Given the description of an element on the screen output the (x, y) to click on. 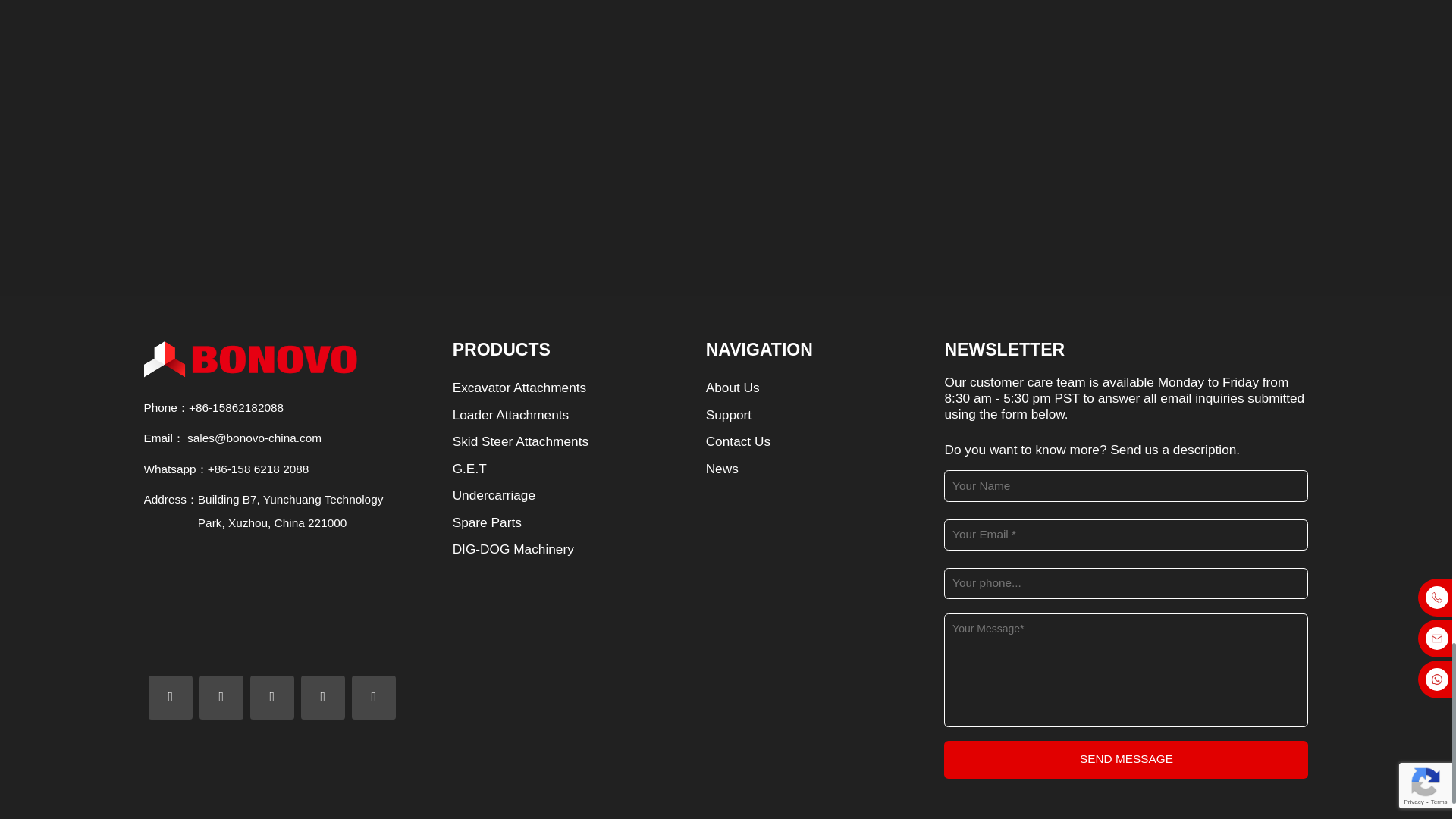
SEND MESSAGE (1125, 759)
